Given the description of an element on the screen output the (x, y) to click on. 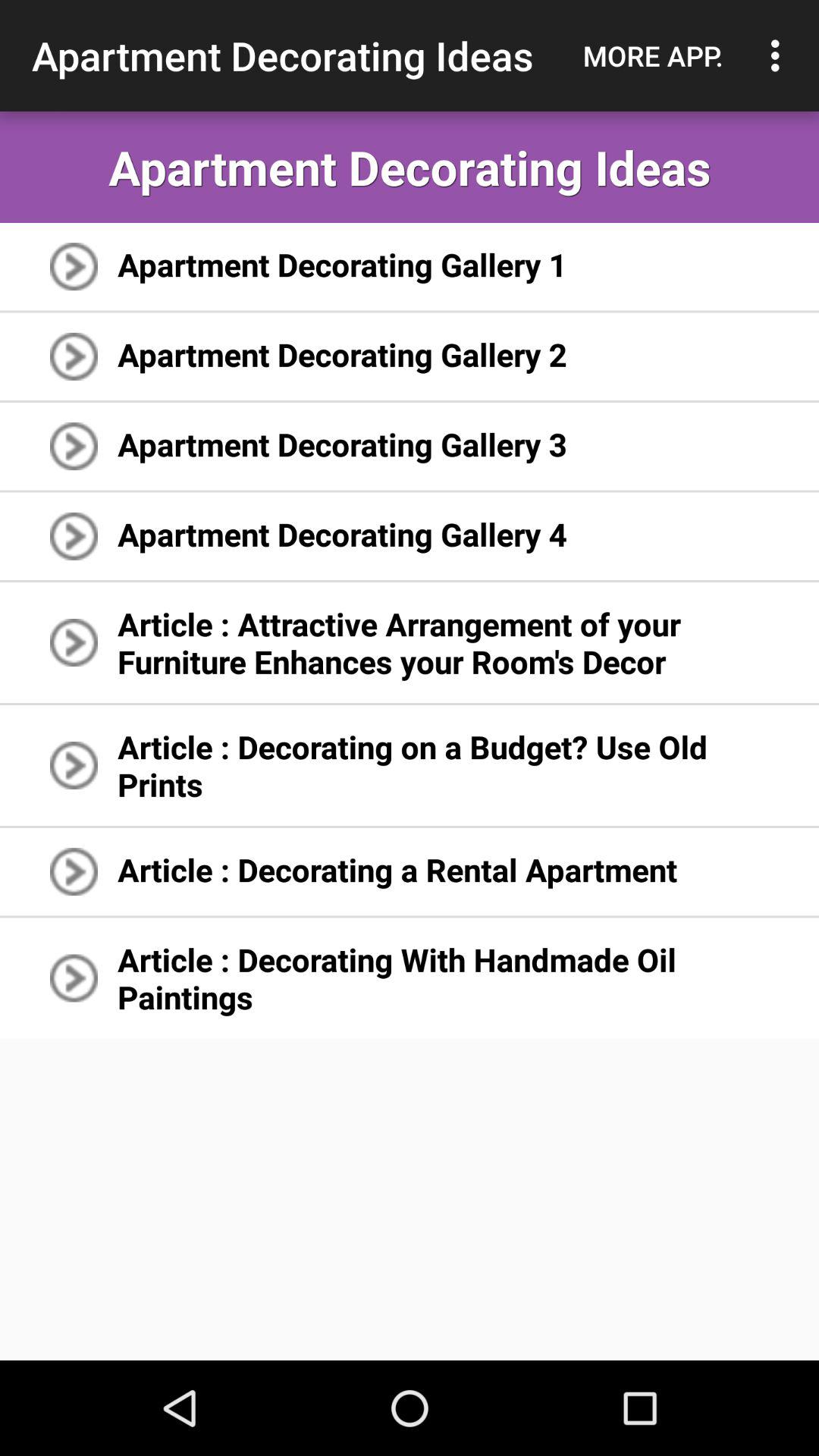
launch the app above the apartment decorating ideas (653, 55)
